Given the description of an element on the screen output the (x, y) to click on. 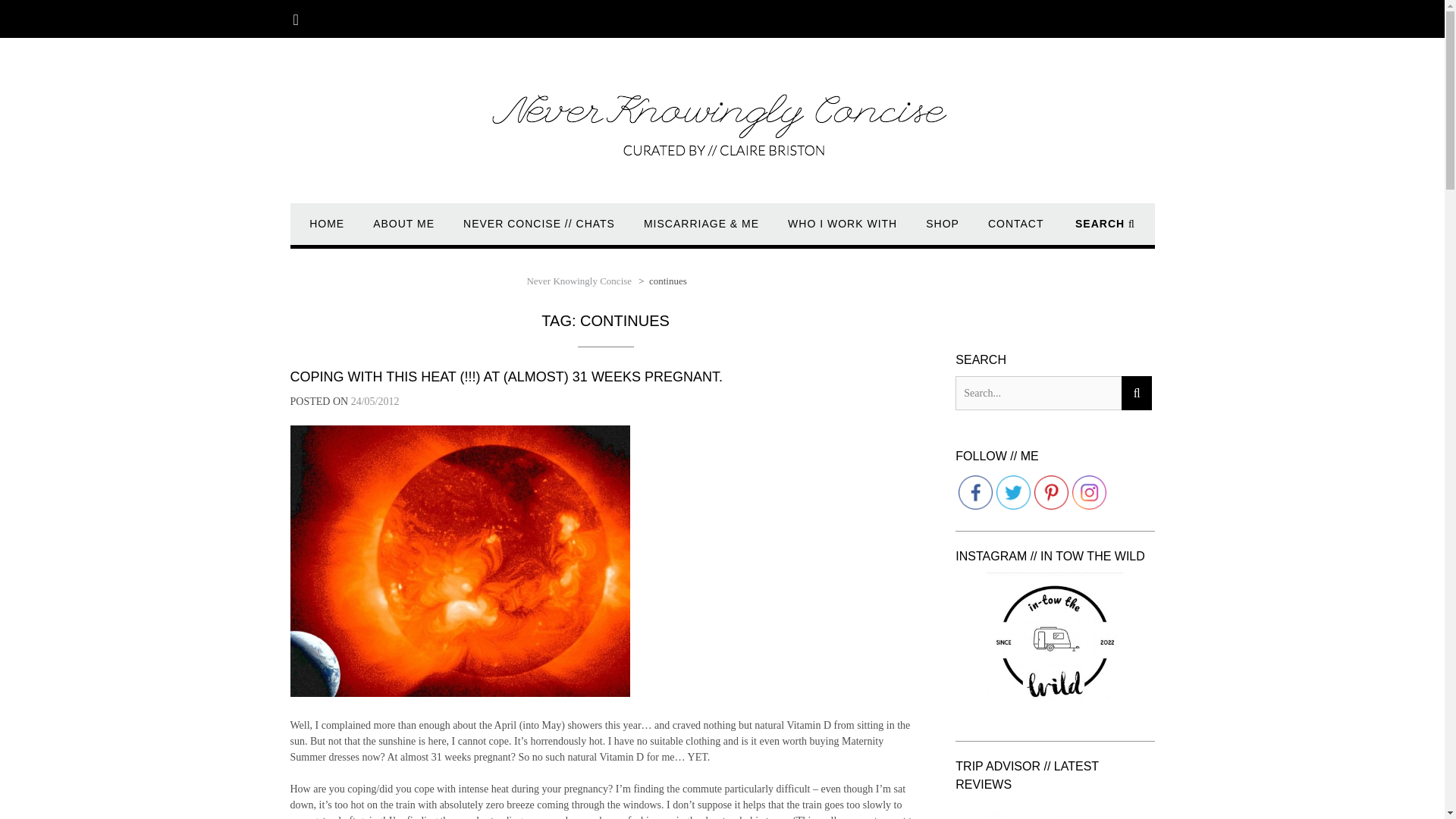
Claire Briston on Twitter (1012, 492)
kensai-earth-and-sun-ex-2 (458, 560)
Search for: (1038, 392)
CONTACT (1015, 230)
HOME (325, 230)
SEARCH (1105, 230)
Claire Briston on Facebook (975, 492)
Claire Briston on Instagram (1088, 492)
ABOUT ME (402, 230)
Claire Briston on Pinterest (1050, 492)
